Given the description of an element on the screen output the (x, y) to click on. 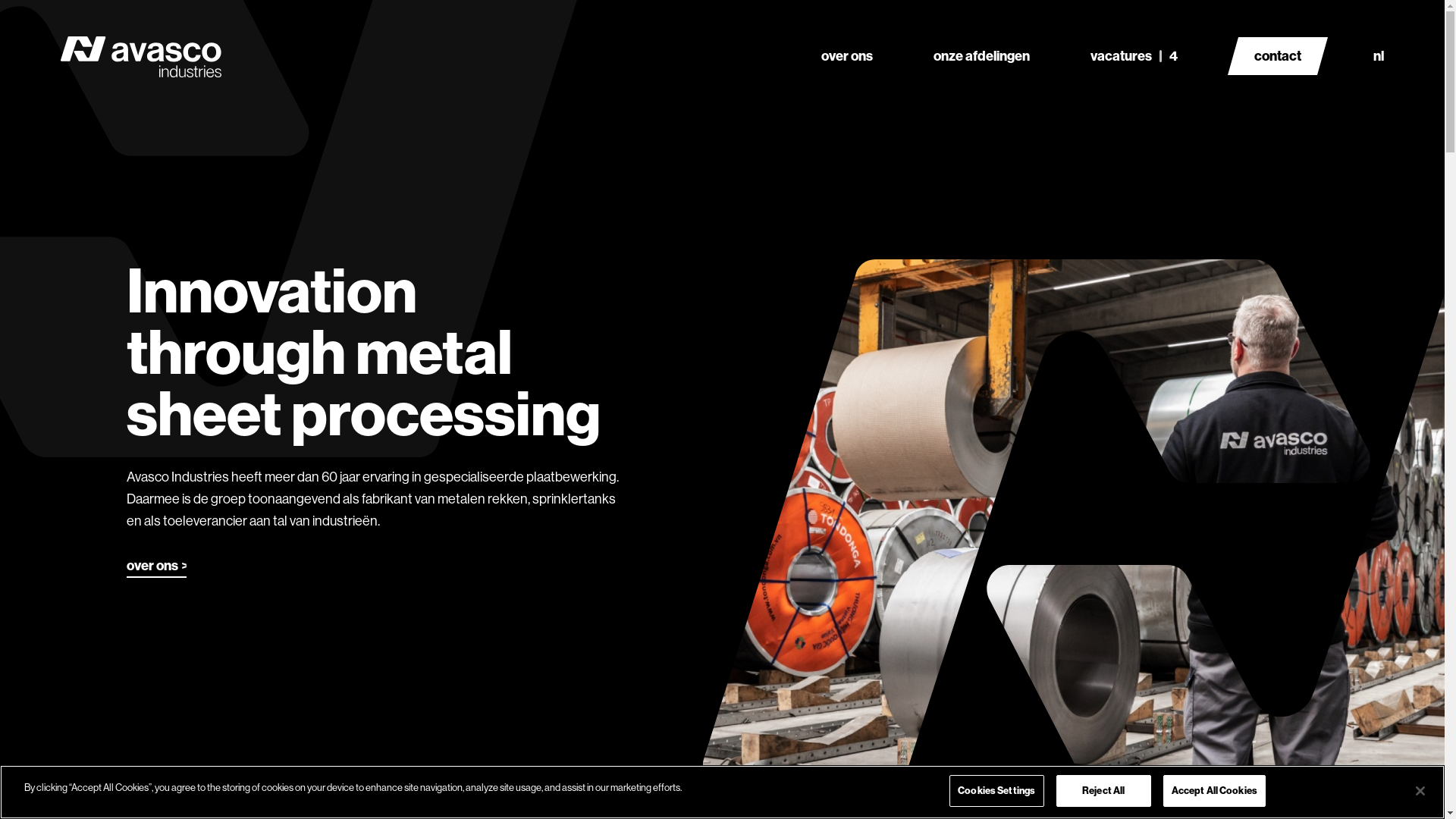
contact Element type: text (1267, 592)
onze afdelingen Element type: text (981, 37)
over ons Element type: text (156, 567)
Accept All Cookies Element type: text (1214, 790)
Overslaan en naar de inhoud gaan Element type: text (0, 0)
vacatures Element type: text (1133, 37)
contact Element type: text (1277, 56)
Avasco Industries Element type: text (1044, 732)
GBL Element type: text (1298, 731)
over ons Element type: text (846, 37)
Cookies Settings Element type: text (996, 790)
Cookies Element type: text (1236, 732)
Privacybeleid Element type: text (1153, 732)
nl Element type: text (1378, 56)
Reject All Element type: text (1103, 790)
LinkedIn Element type: text (1292, 699)
